Given the description of an element on the screen output the (x, y) to click on. 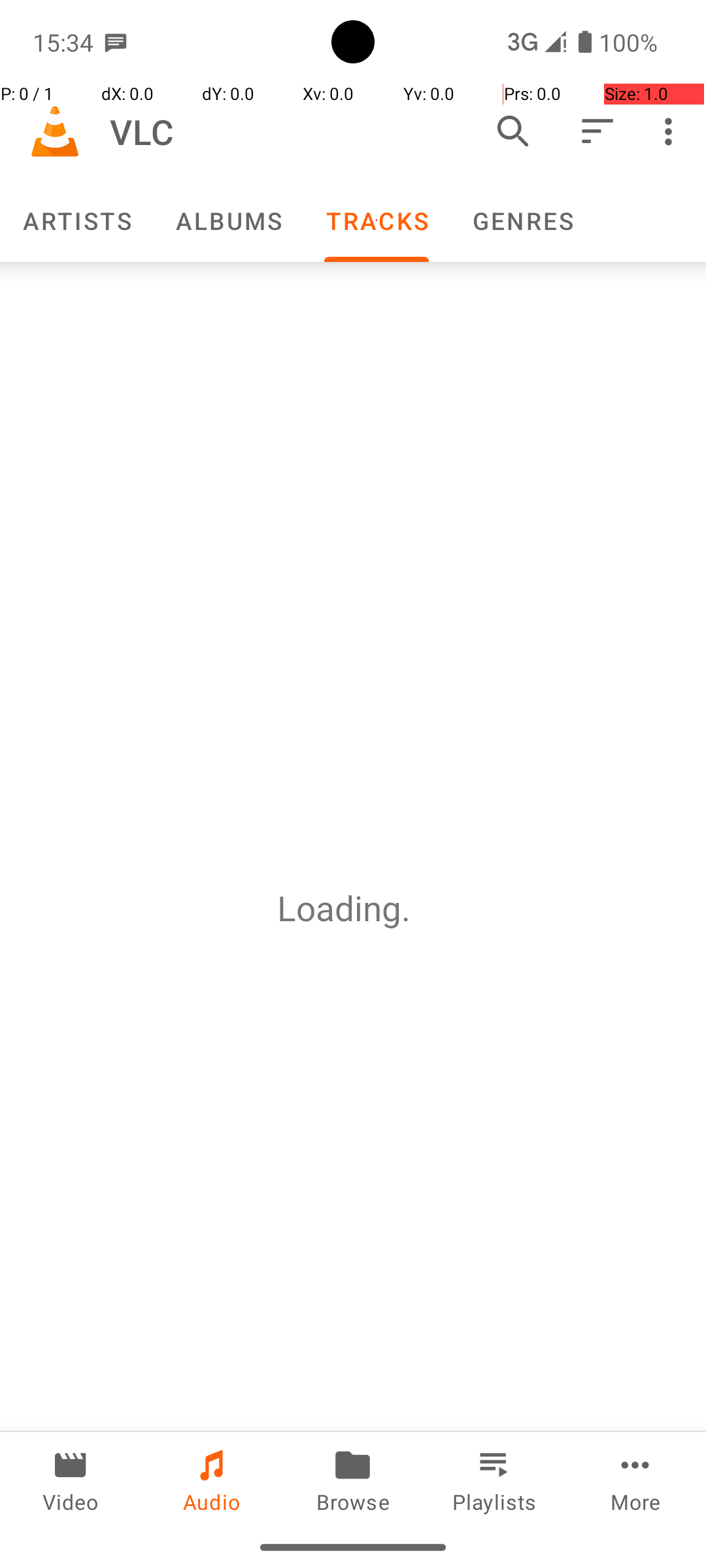
Tracks Element type: android.widget.LinearLayout (376, 220)
Genres Element type: android.widget.LinearLayout (521, 220)
ARTISTS Element type: android.widget.TextView (76, 220)
ALBUMS Element type: android.widget.TextView (227, 220)
TRACKS Element type: android.widget.TextView (376, 220)
GENRES Element type: android.widget.TextView (521, 220)
